Given the description of an element on the screen output the (x, y) to click on. 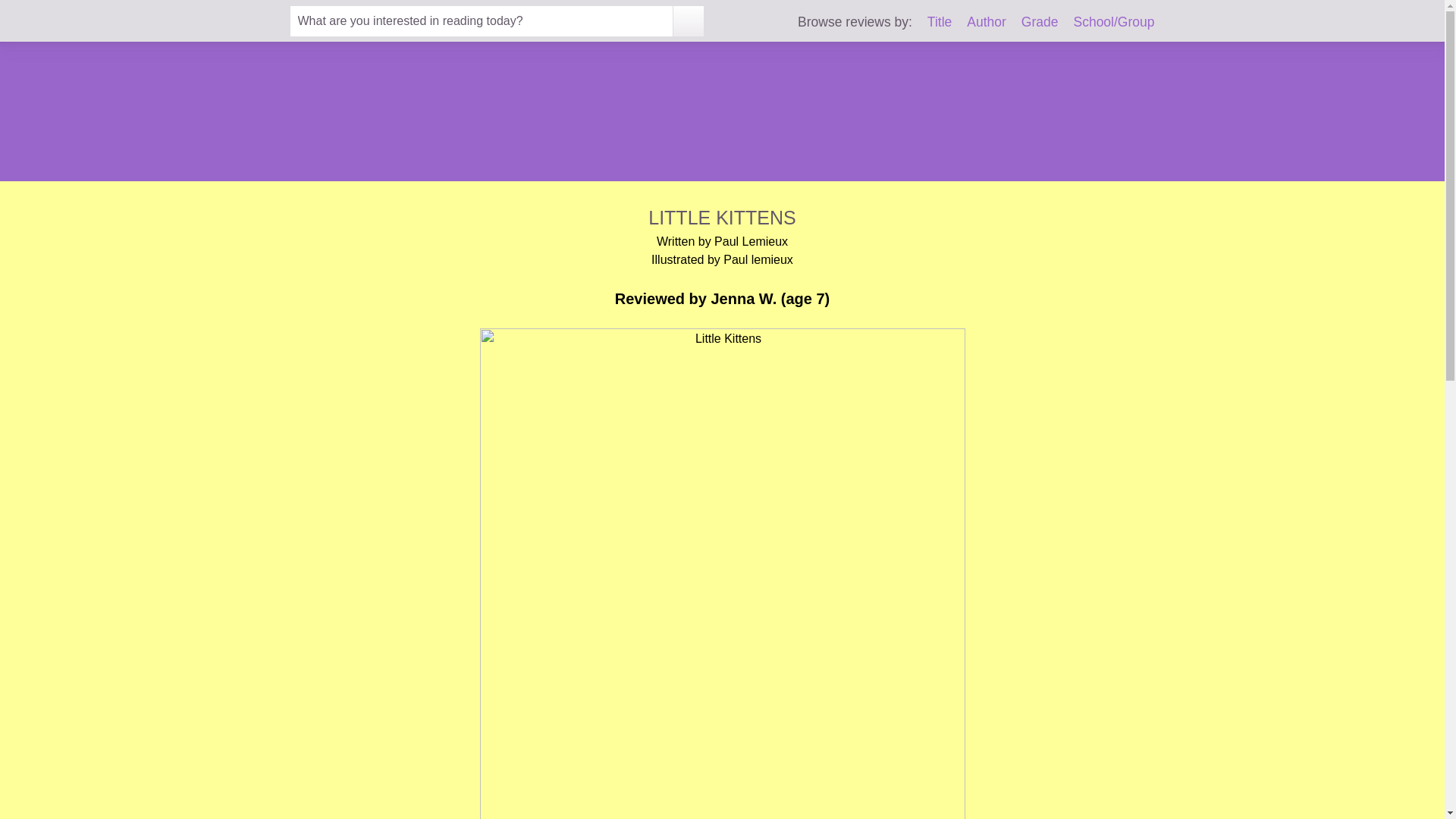
Author (986, 21)
Grade (1040, 21)
Title (939, 21)
